Given the description of an element on the screen output the (x, y) to click on. 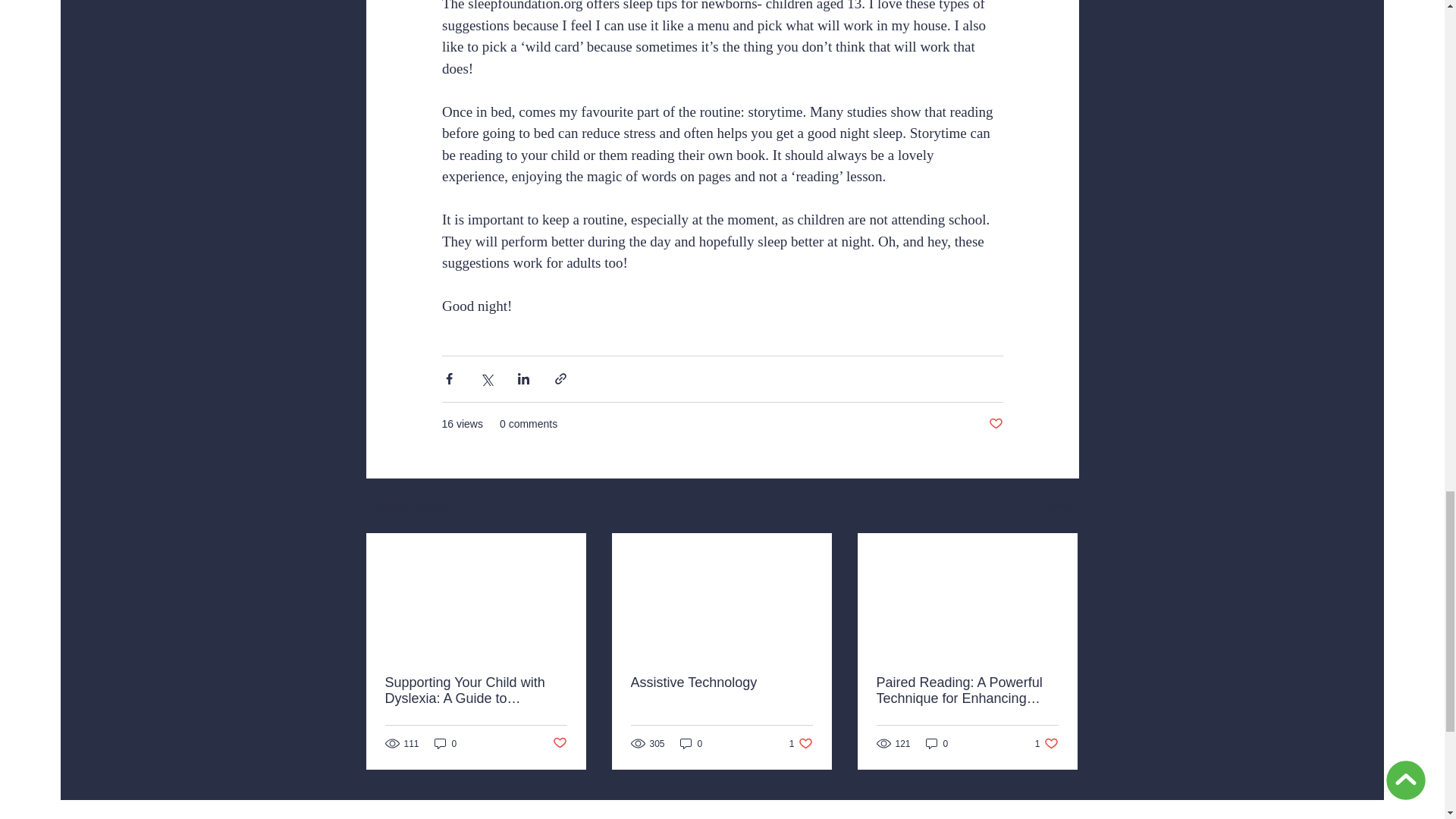
0 (445, 743)
Assistive Technology (721, 682)
Post not marked as liked (995, 424)
See All (1061, 506)
Post not marked as liked (800, 743)
0 (558, 743)
0 (691, 743)
